Given the description of an element on the screen output the (x, y) to click on. 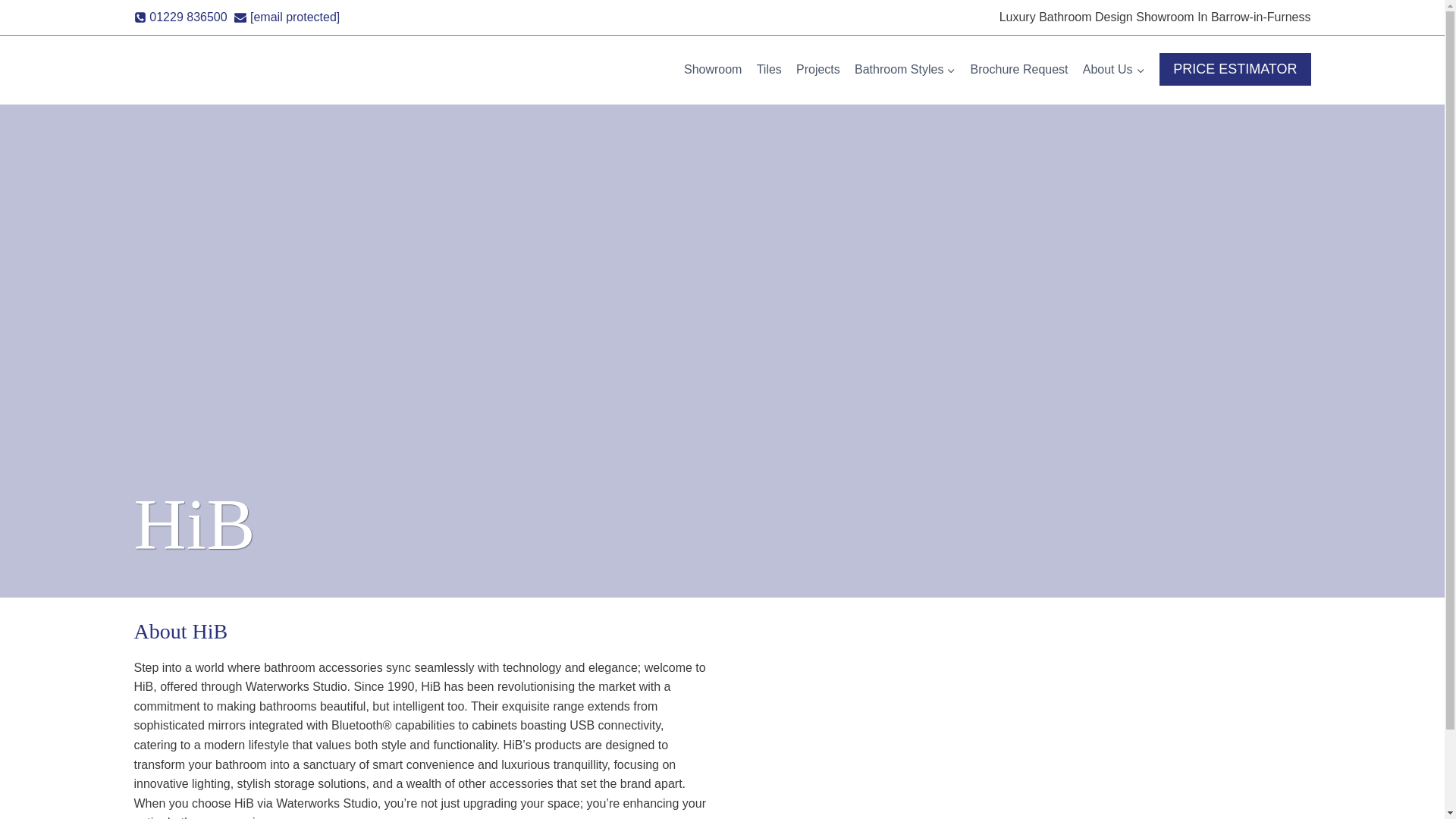
Brochure Request (1018, 70)
Bathroom Styles (904, 70)
01229 836500 (180, 17)
About Us (1113, 70)
Showroom (713, 70)
